Given the description of an element on the screen output the (x, y) to click on. 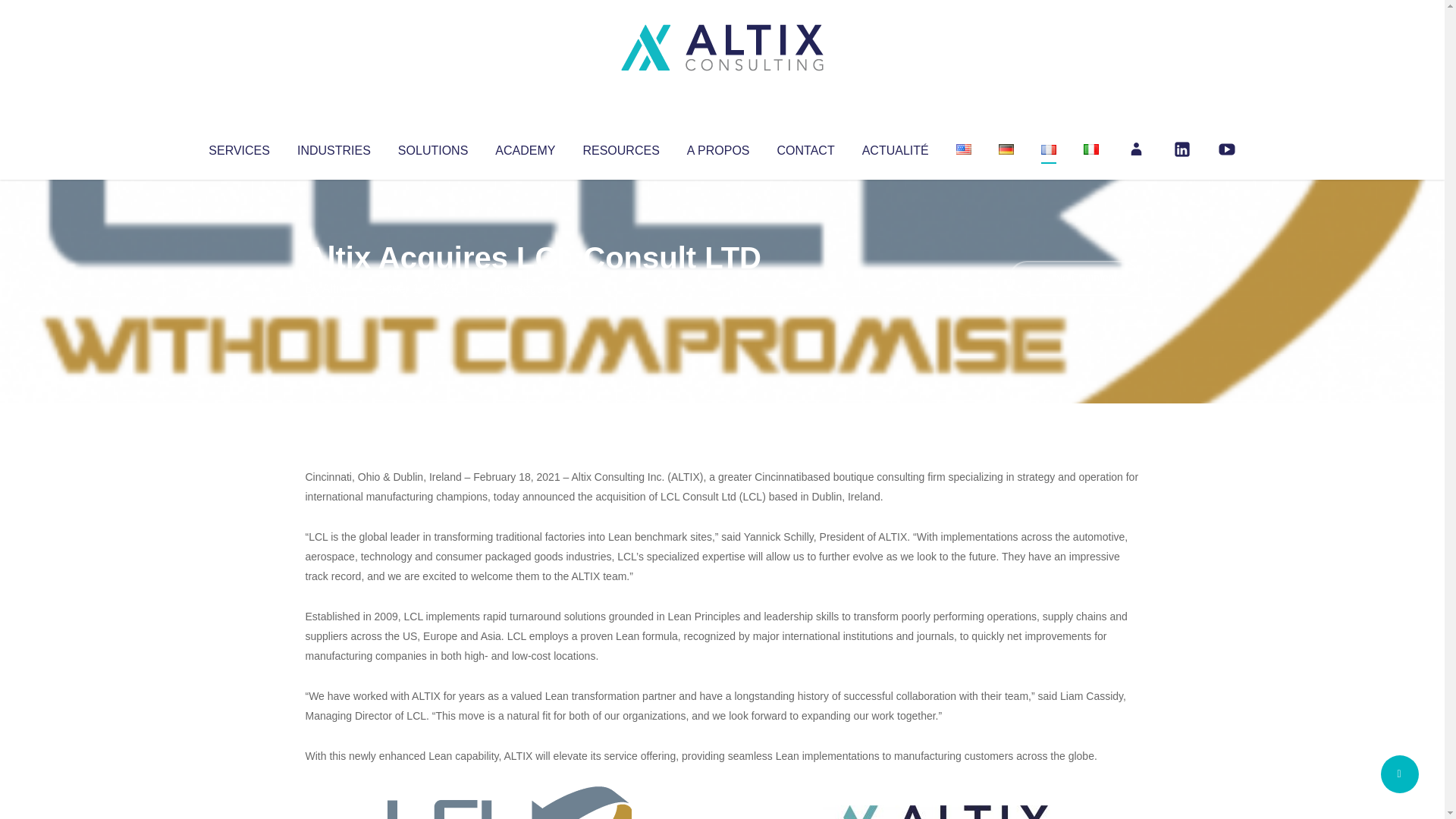
A PROPOS (718, 146)
Articles par Altix (333, 287)
INDUSTRIES (334, 146)
SOLUTIONS (432, 146)
SERVICES (238, 146)
Uncategorized (530, 287)
No Comments (1073, 278)
Altix (333, 287)
ACADEMY (524, 146)
RESOURCES (620, 146)
